Given the description of an element on the screen output the (x, y) to click on. 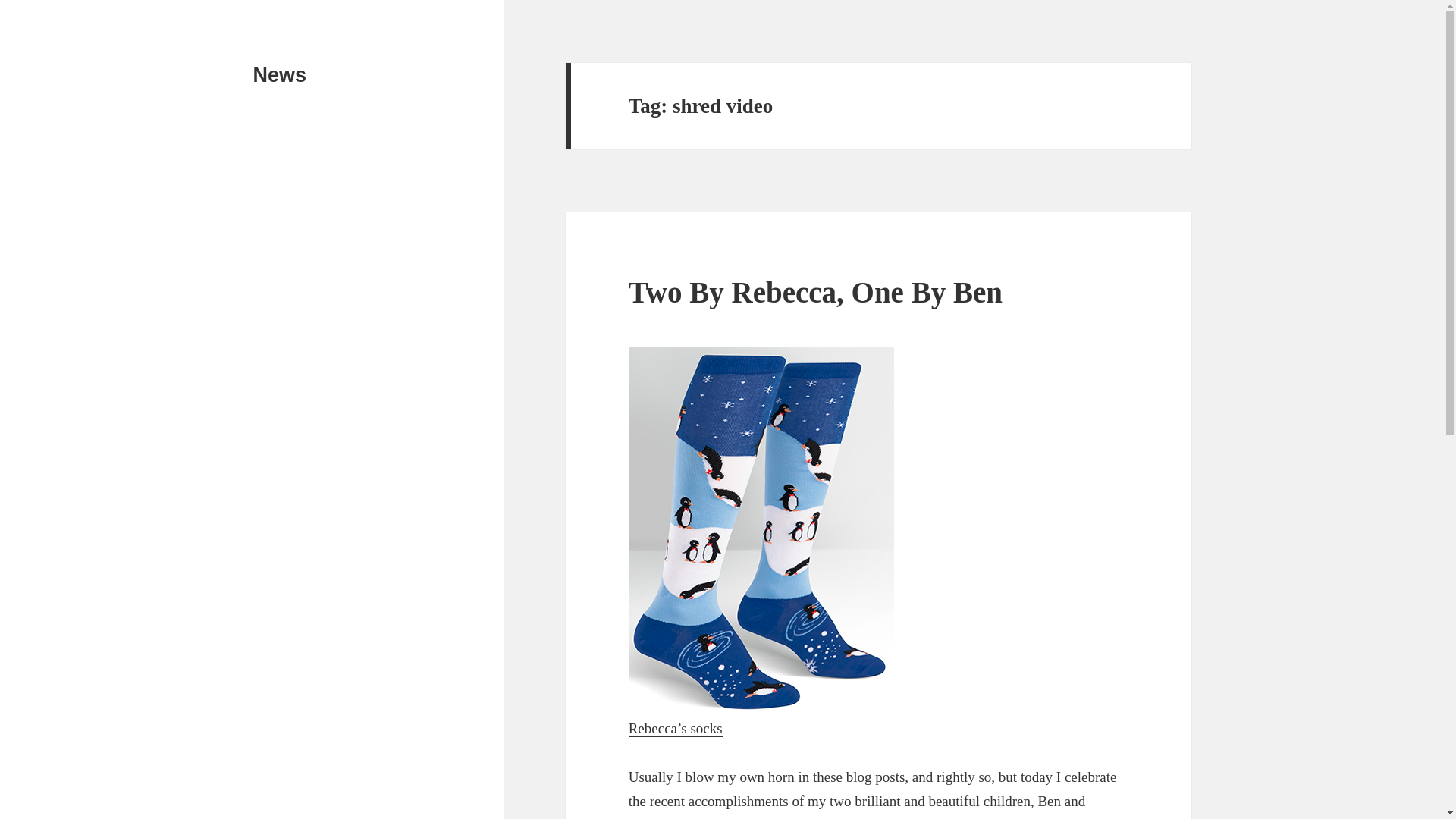
Two By Rebecca, One By Ben (815, 292)
News (280, 74)
